Given the description of an element on the screen output the (x, y) to click on. 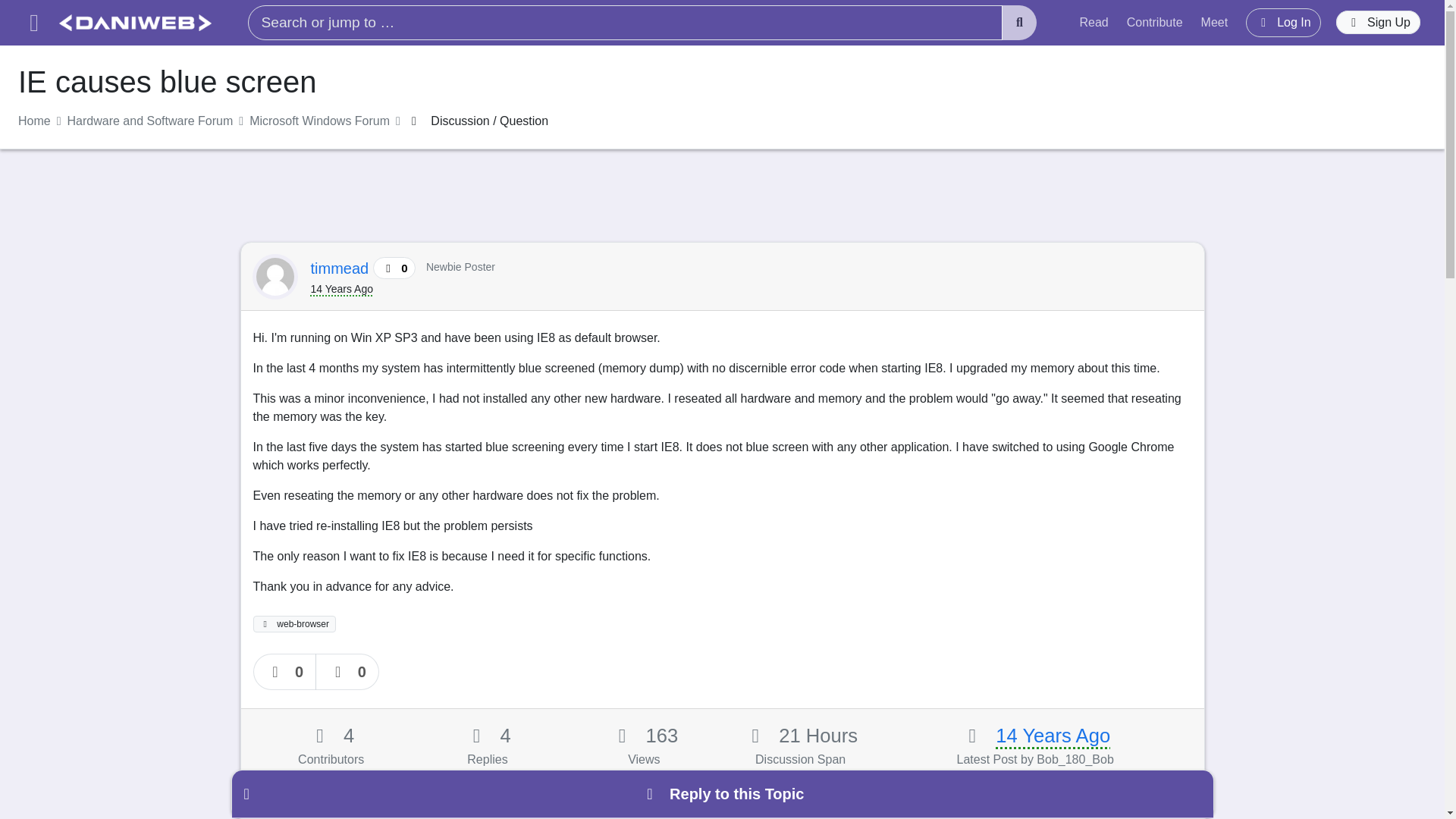
timmead (341, 268)
Read (1093, 22)
0 (285, 671)
Meet (1214, 22)
Search (1018, 22)
Contribute (1155, 22)
Log In (1283, 22)
0 (346, 671)
Home (33, 120)
14 Years Ago (1052, 735)
web-browser (294, 623)
Toggle Menu (33, 22)
DaniWeb (135, 22)
Sign Up (1378, 22)
Microsoft Windows Forum (319, 120)
